Given the description of an element on the screen output the (x, y) to click on. 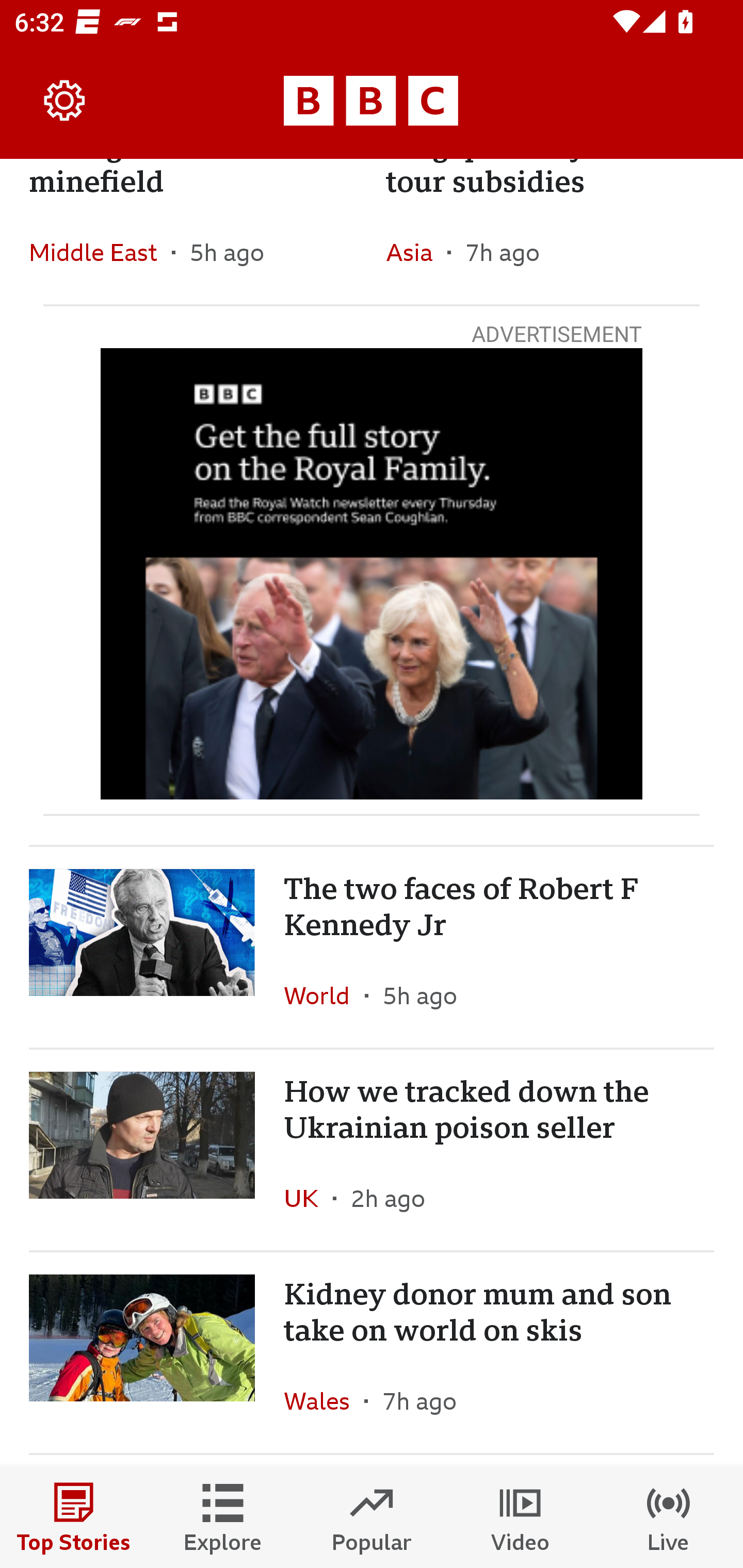
Settings (64, 100)
Middle East In the section Middle East (99, 252)
Asia In the section Asia (416, 252)
World In the section World (323, 995)
UK In the section UK (307, 1197)
Wales In the section Wales (323, 1400)
Explore (222, 1517)
Popular (371, 1517)
Video (519, 1517)
Live (668, 1517)
